Given the description of an element on the screen output the (x, y) to click on. 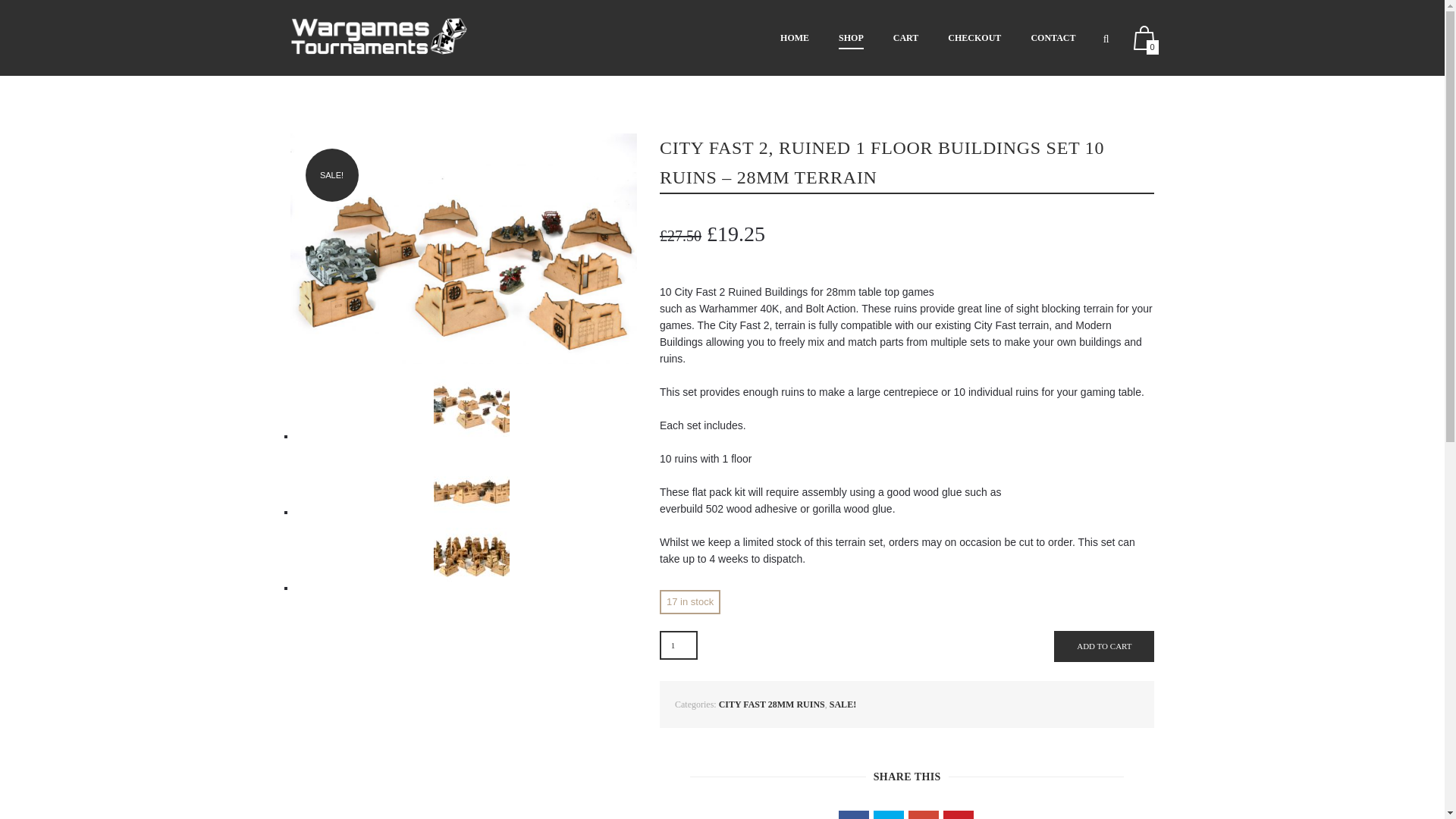
Skip to primary content (829, 37)
Skip to secondary content (836, 37)
1 (678, 645)
HOME (794, 38)
SKIP TO PRIMARY CONTENT (829, 37)
Shop (850, 38)
ADD TO CART (1104, 645)
CONTACT (1052, 38)
SKIP TO SECONDARY CONTENT (836, 37)
SALE! (842, 704)
